Given the description of an element on the screen output the (x, y) to click on. 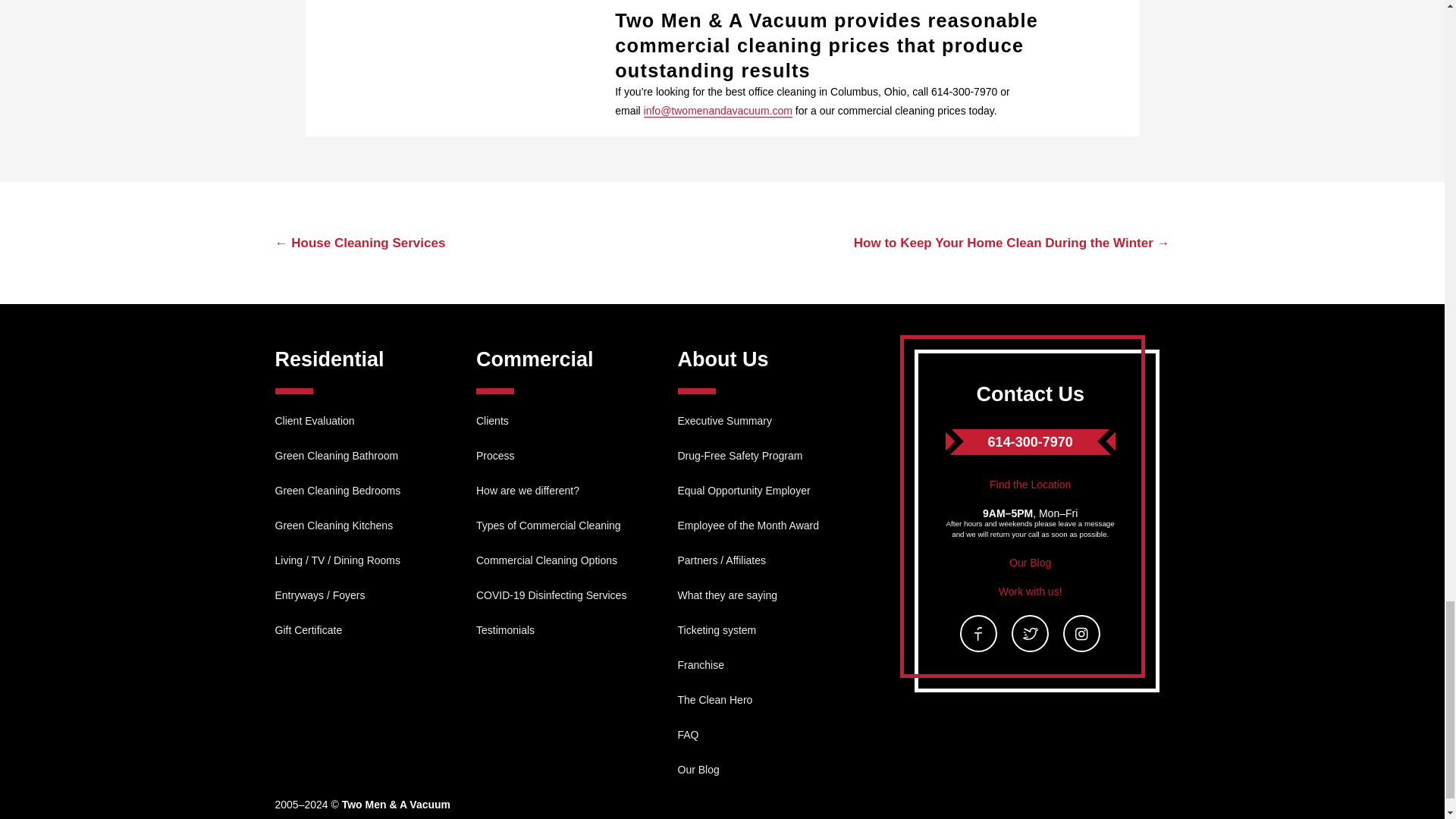
About Us (723, 359)
Our Vacancies (1030, 591)
Commercial (535, 359)
Our Blog (1030, 562)
Contact (1030, 484)
Twitter (1029, 633)
Facebook (978, 633)
Instagram (1081, 633)
Residential (329, 359)
